Given the description of an element on the screen output the (x, y) to click on. 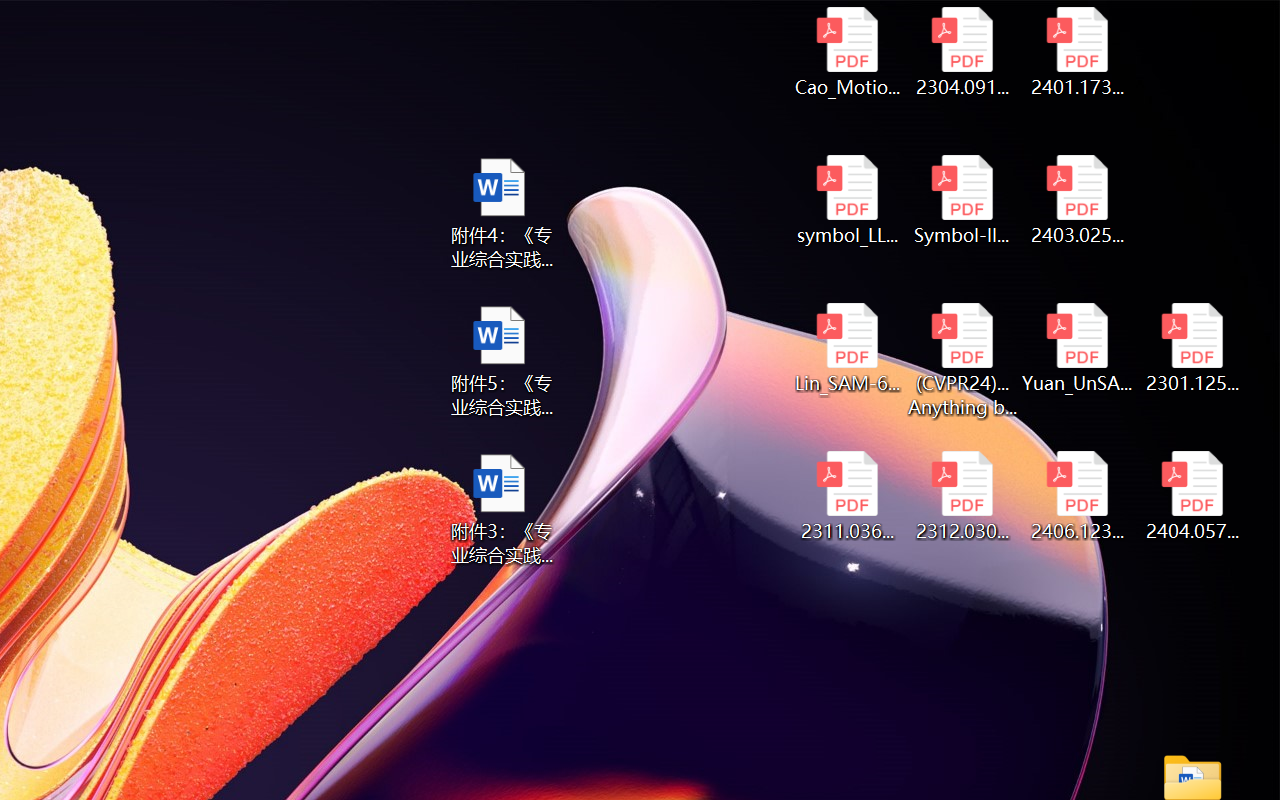
Symbol-llm-v2.pdf (962, 200)
